Given the description of an element on the screen output the (x, y) to click on. 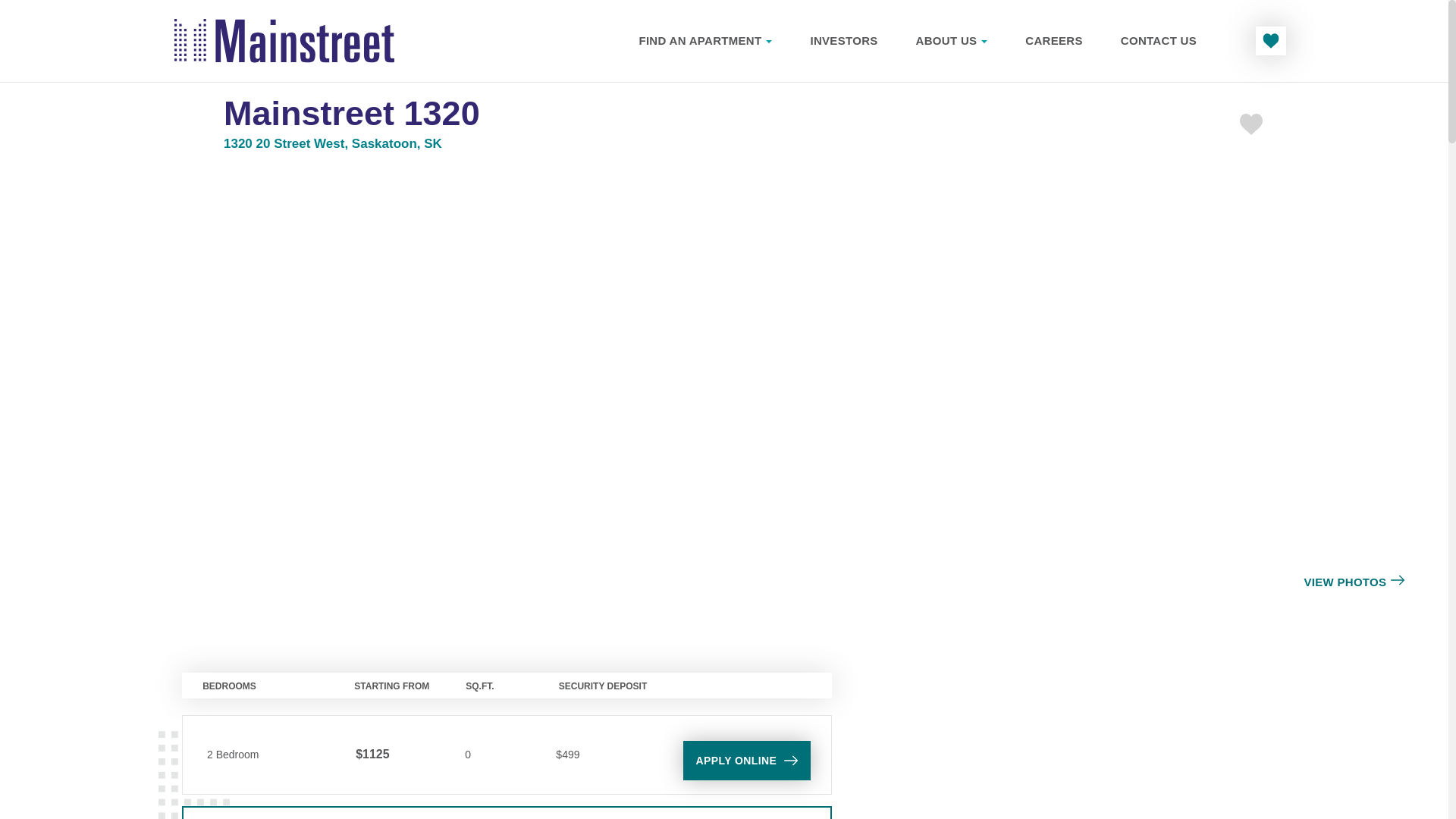
CAREERS (1053, 40)
CONTACT US (1158, 40)
Mainstreet Equity Corp. (284, 40)
ABOUT US (951, 40)
INVESTORS (842, 40)
Apply Online (746, 760)
View Property Video (506, 813)
FIND AN APARTMENT (705, 40)
